Given the description of an element on the screen output the (x, y) to click on. 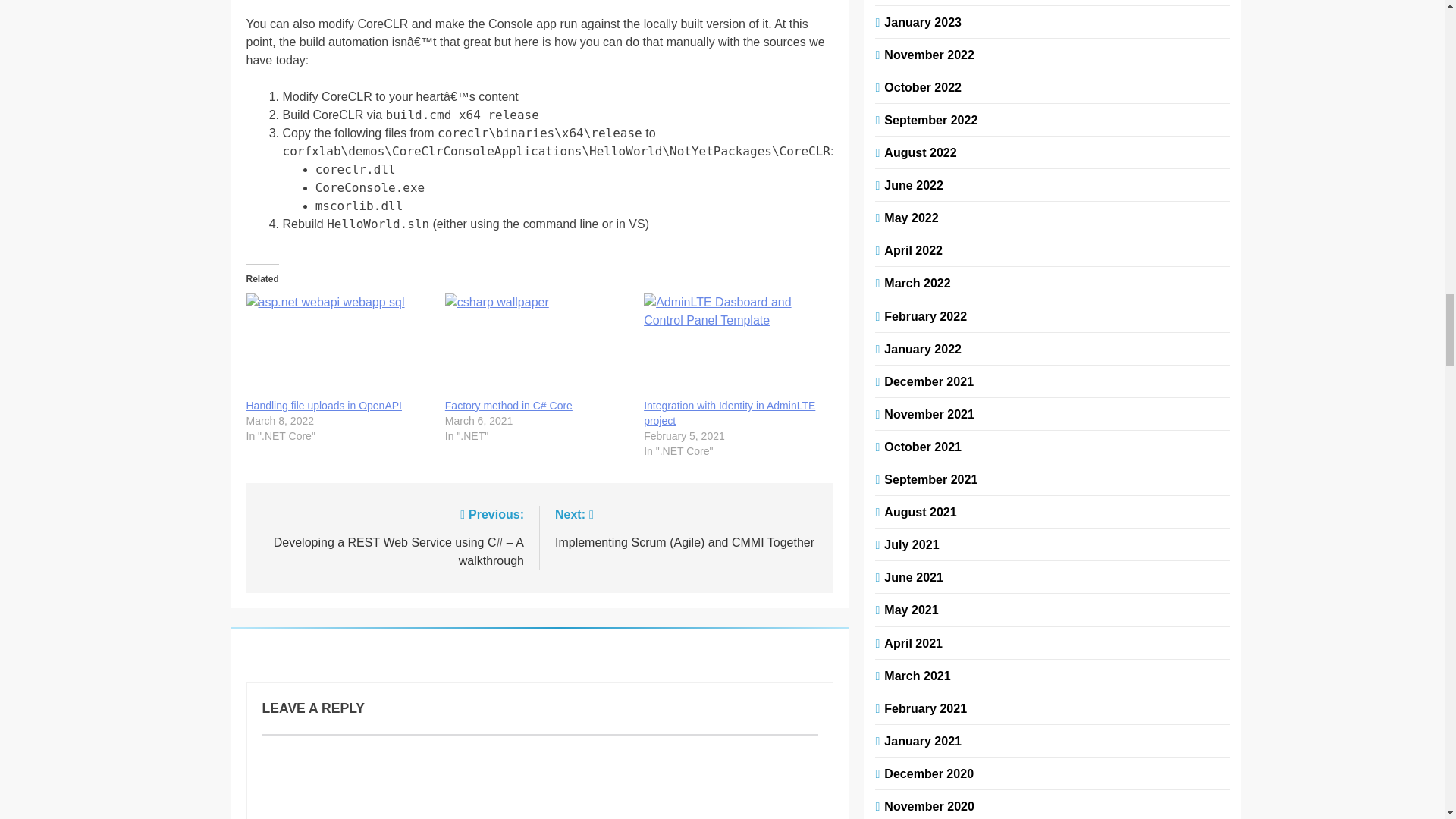
Integration with Identity in AdminLTE project (735, 345)
Comment Form (540, 776)
Handling file uploads in OpenAPI (337, 345)
Integration with Identity in AdminLTE project (729, 412)
Handling file uploads in OpenAPI (323, 405)
